Given the description of an element on the screen output the (x, y) to click on. 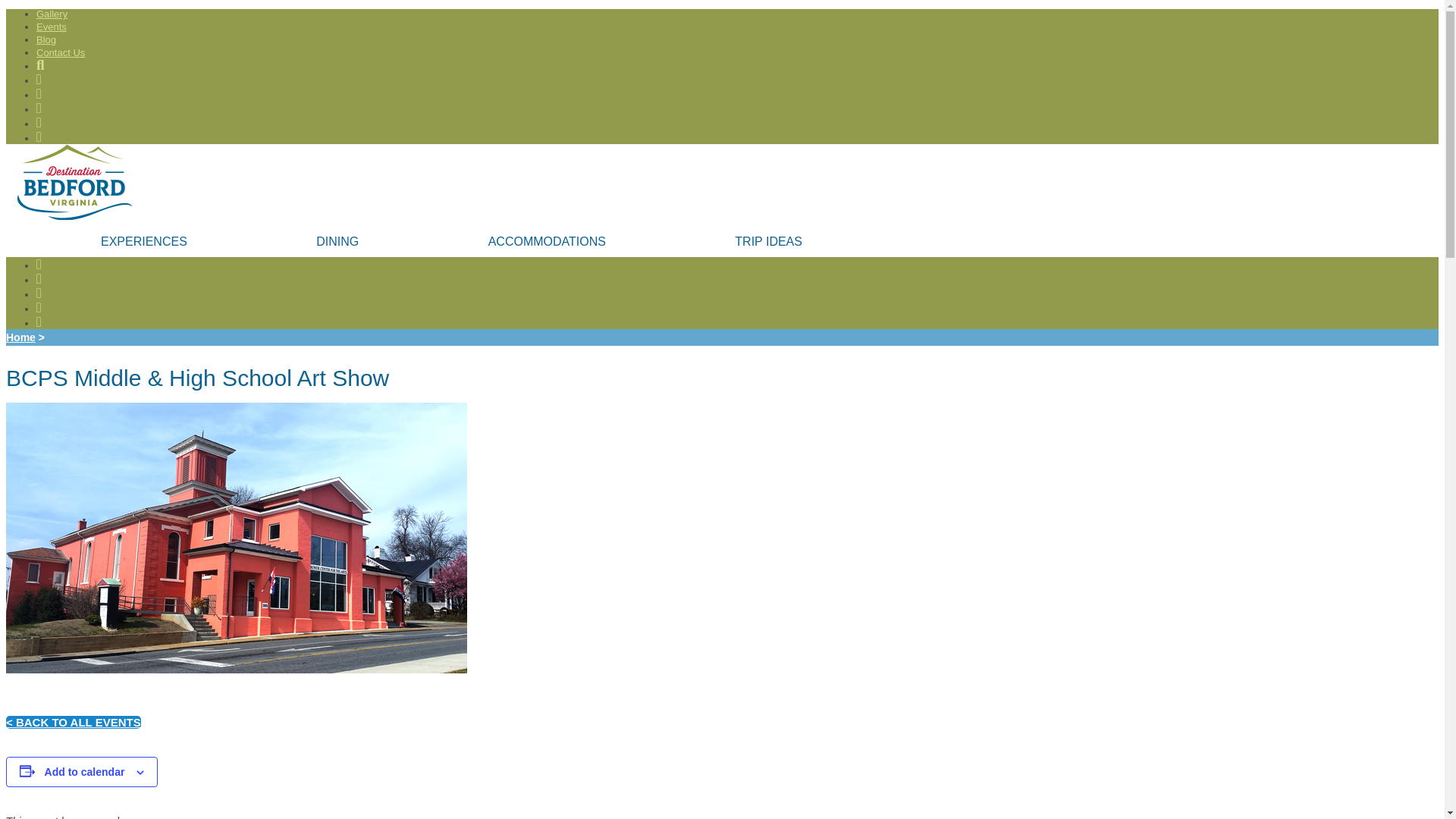
ACCOMMODATIONS (546, 241)
Contact Us (60, 52)
Gallery (51, 13)
Go to Destination Bedford. (19, 337)
EXPERIENCES (143, 241)
Events (51, 26)
DINING (336, 241)
Blog (46, 39)
TRIP IDEAS (768, 241)
